Given the description of an element on the screen output the (x, y) to click on. 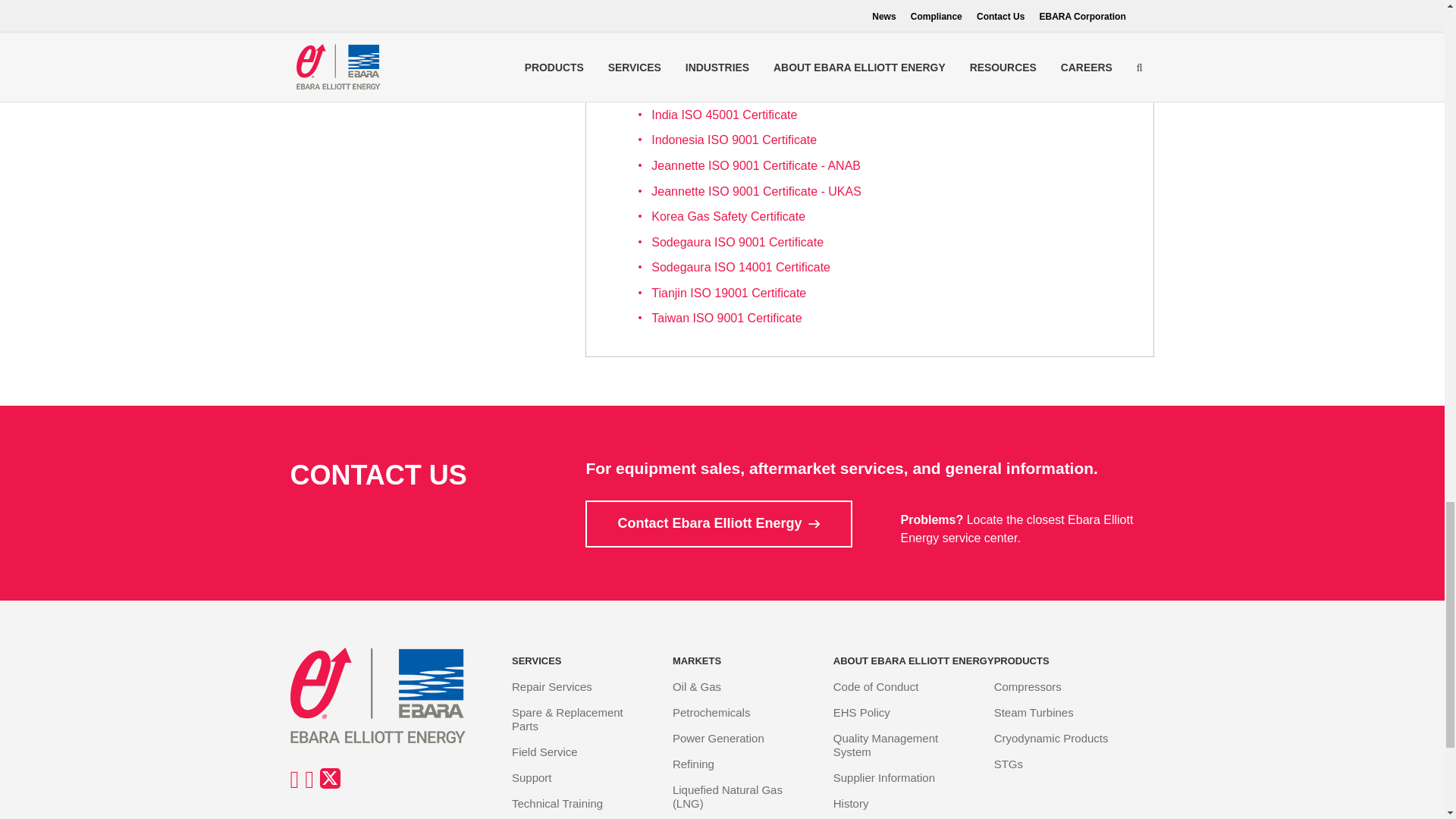
EMA ISO 9001 Certificate (719, 38)
Korea Gas Safety Certificate (727, 215)
Indonesia ISO 9001 Certificate (733, 139)
Sodegaura ISO 9001 Certificate (737, 241)
North America Repair Operations ISO 9001 Certificate (796, 11)
India ISO 45001 Certificate (723, 114)
India ISO 9001 Certificate (720, 63)
Sodegaura ISO 14001 Certificate (739, 267)
Jeannette ISO 9001 Certificate - ANAB (755, 164)
India ISO 14001 Certificate (723, 88)
Jeannette ISO 9001 Certificate - UKAS (755, 191)
Ebara Elliott Energy Turbo (389, 694)
